Given the description of an element on the screen output the (x, y) to click on. 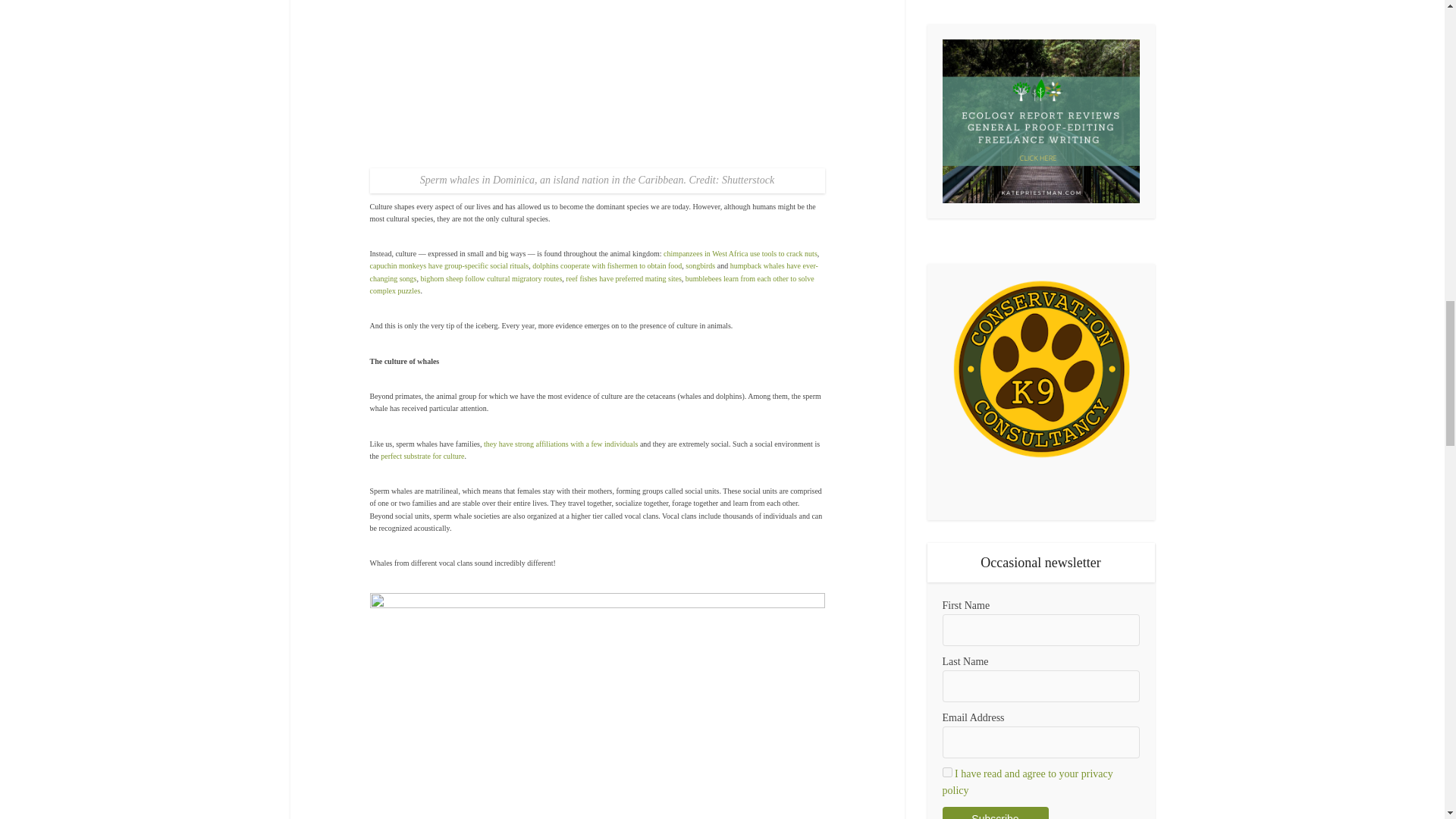
they have strong affiliations with a few individuals (560, 443)
songbirds (699, 265)
reef fishes have preferred mating sites (623, 278)
dolphins cooperate with fishermen to obtain food (606, 265)
capuchin monkeys have group-specific social rituals (449, 265)
1 (947, 772)
Subscribe (995, 812)
bumblebees learn from each other to solve complex puzzles (591, 284)
humpback whales have ever-changing songs (593, 271)
bighorn sheep follow cultural migratory routes (491, 278)
perfect substrate for culture (422, 456)
chimpanzees in West Africa use tools to crack nuts (739, 253)
